Given the description of an element on the screen output the (x, y) to click on. 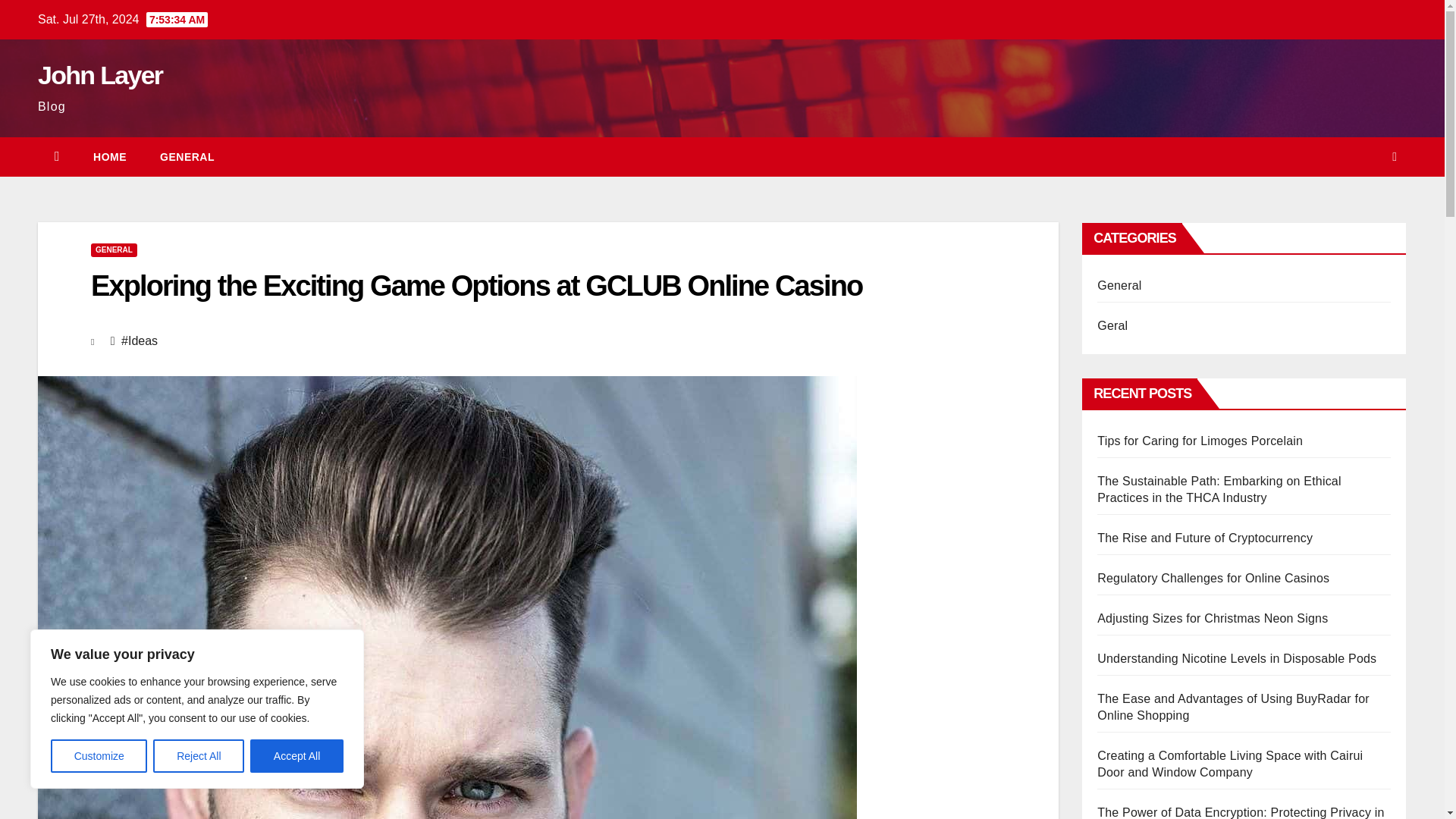
GENERAL (186, 156)
Home (109, 156)
Customize (98, 756)
Exploring the Exciting Game Options at GCLUB Online Casino (475, 286)
General (186, 156)
GENERAL (113, 250)
John Layer (99, 74)
Reject All (198, 756)
HOME (109, 156)
Accept All (296, 756)
